Given the description of an element on the screen output the (x, y) to click on. 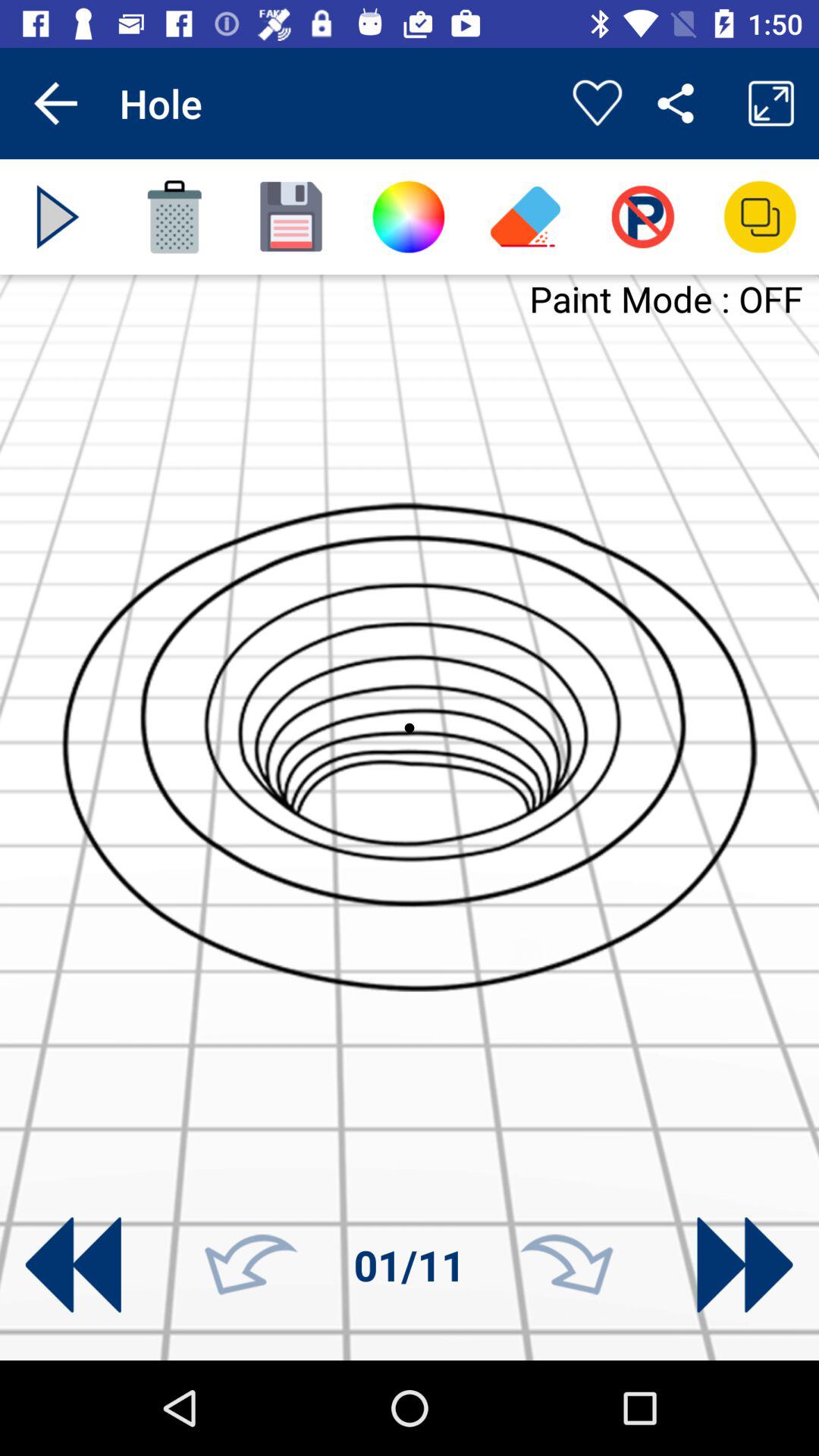
copy (759, 216)
